Given the description of an element on the screen output the (x, y) to click on. 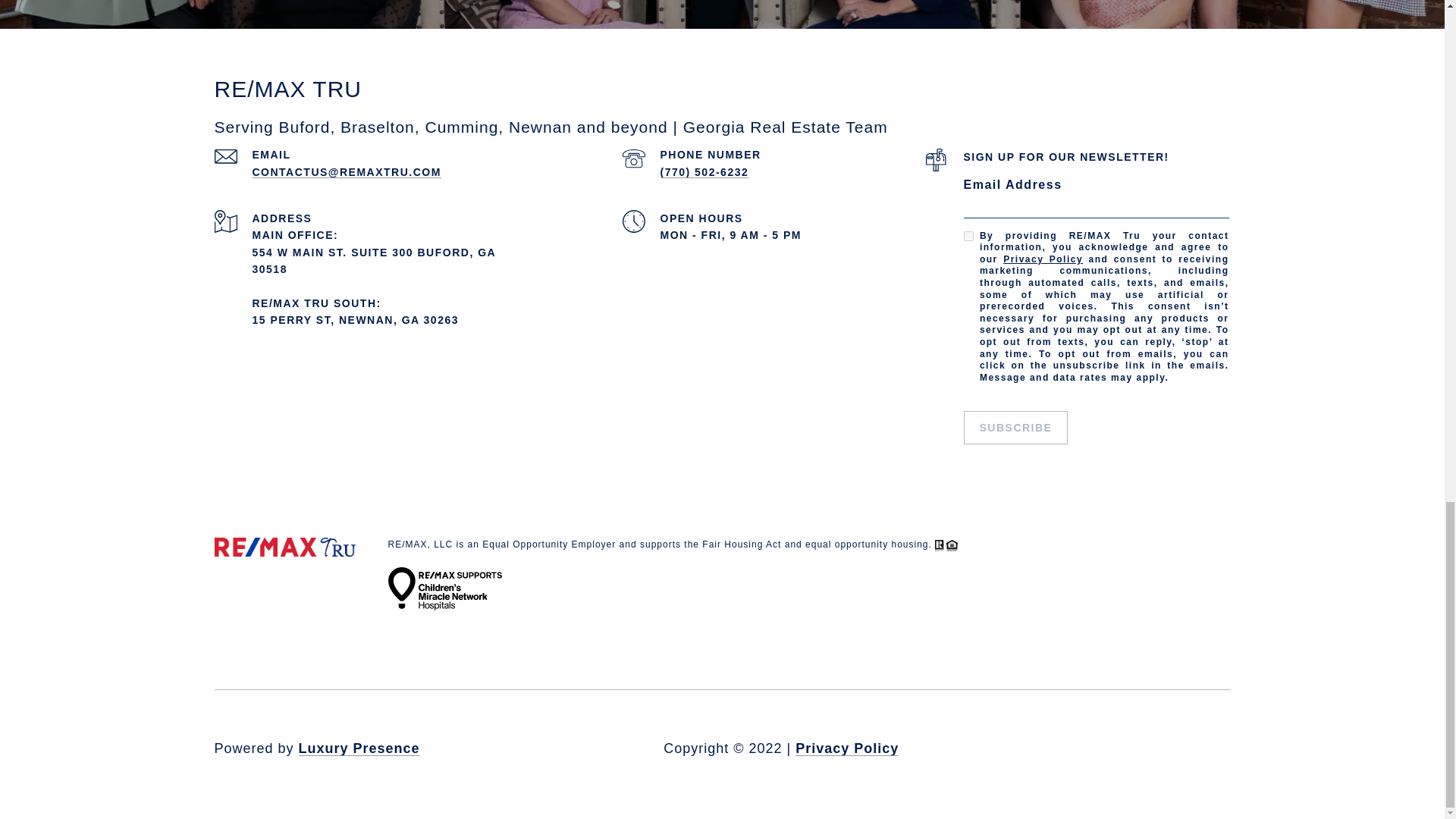
on (967, 235)
